Given the description of an element on the screen output the (x, y) to click on. 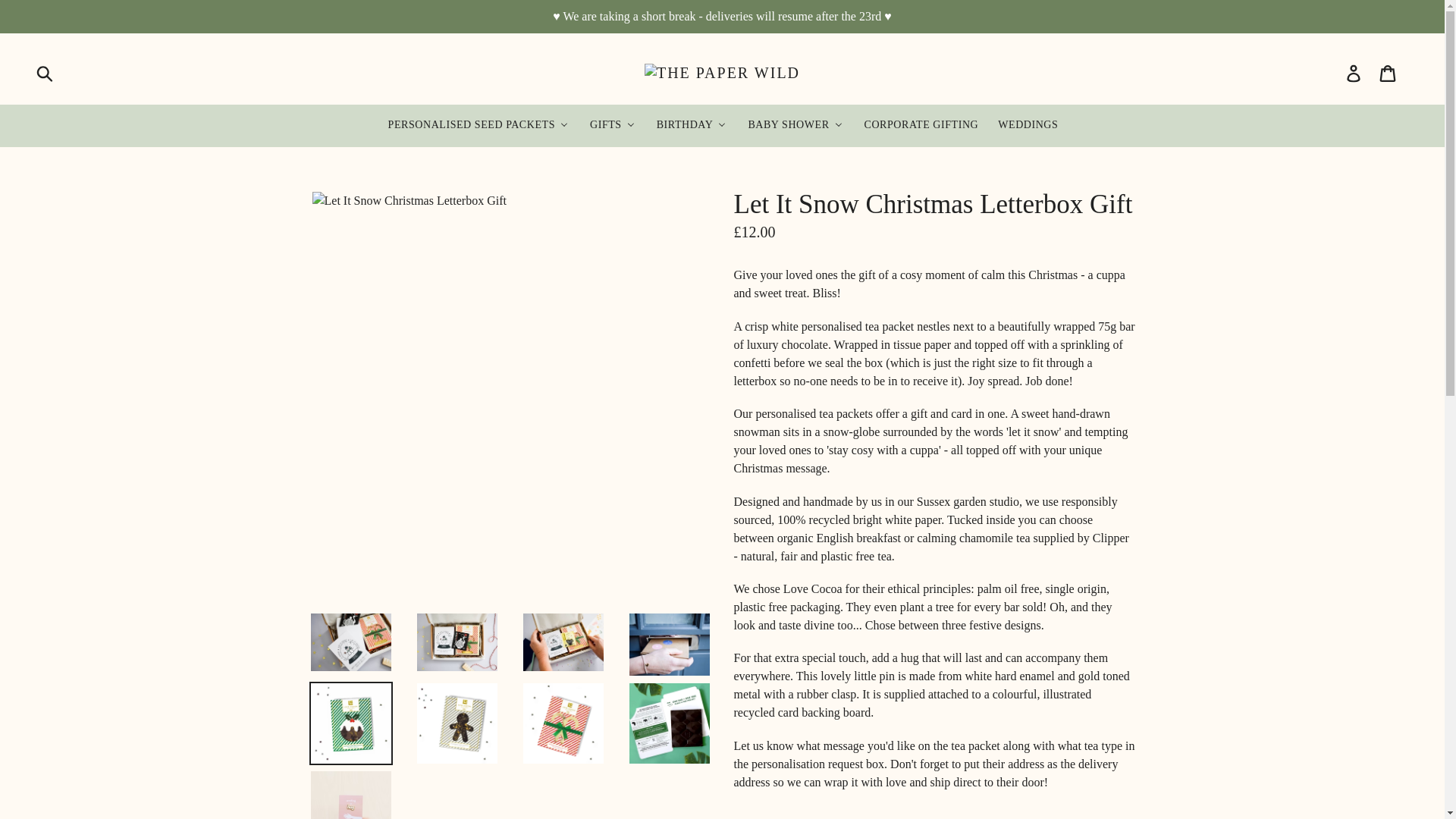
Log in (1354, 73)
Submit (45, 72)
Cart (1388, 73)
